Given the description of an element on the screen output the (x, y) to click on. 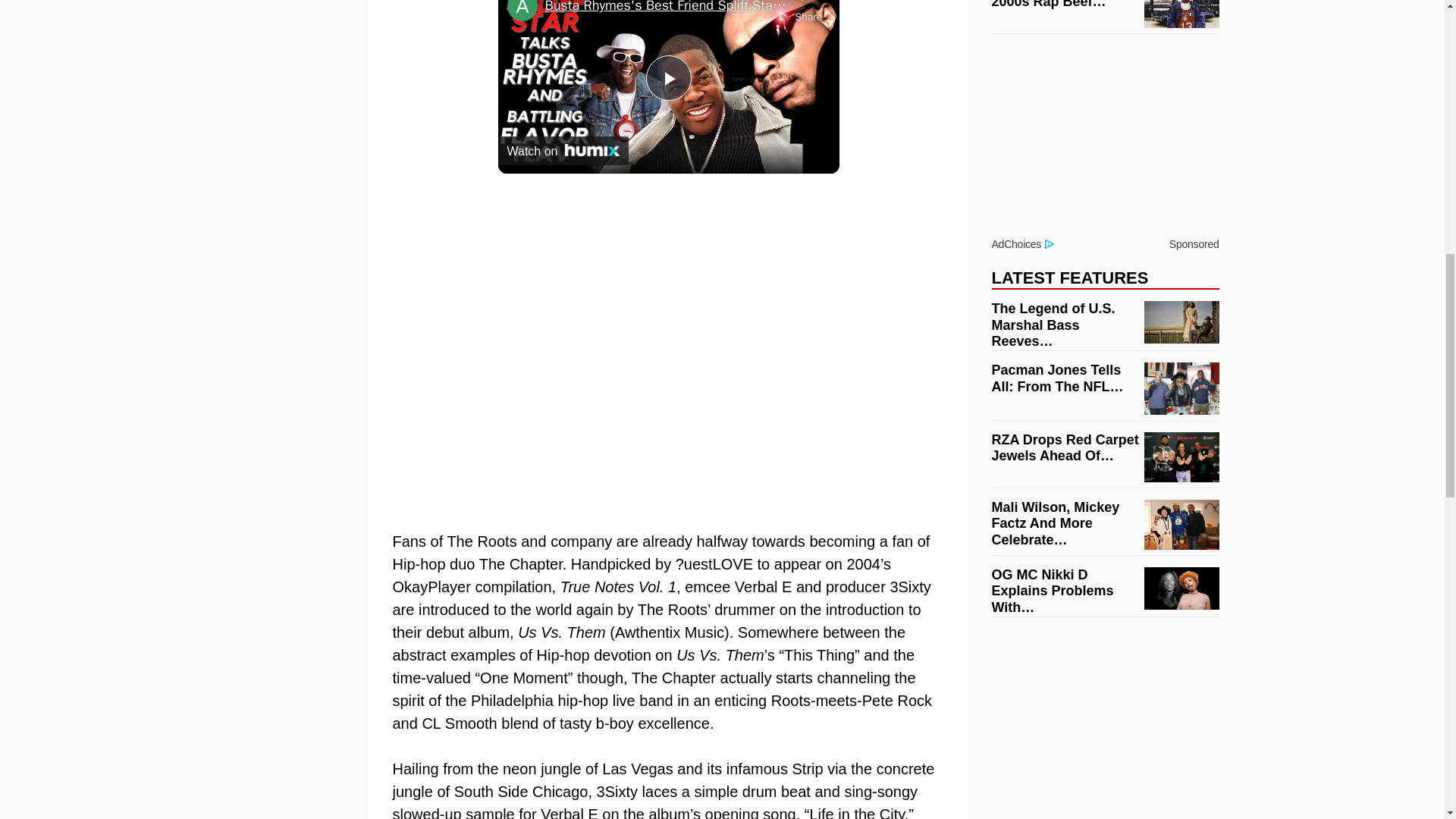
Play Video (668, 77)
